Given the description of an element on the screen output the (x, y) to click on. 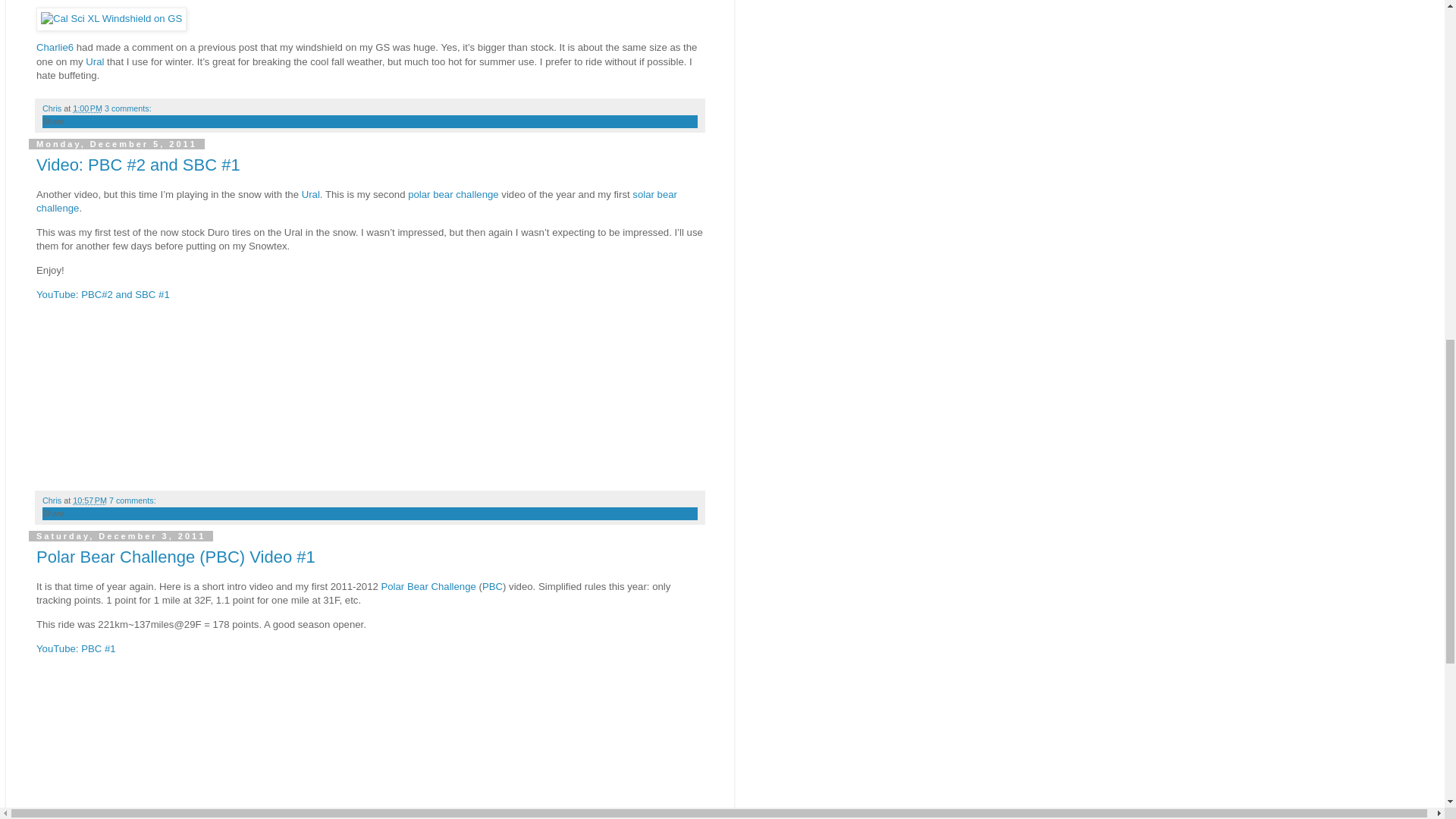
polar bear challenge (453, 194)
Cal Sci XL Windshield on GS (111, 18)
Share (53, 121)
permanent link (86, 108)
Charlie6 (55, 47)
author profile (53, 500)
3 comments: (127, 108)
permanent link (89, 500)
Chris (53, 108)
author profile (53, 108)
Ural (310, 194)
Ural (94, 61)
